Given the description of an element on the screen output the (x, y) to click on. 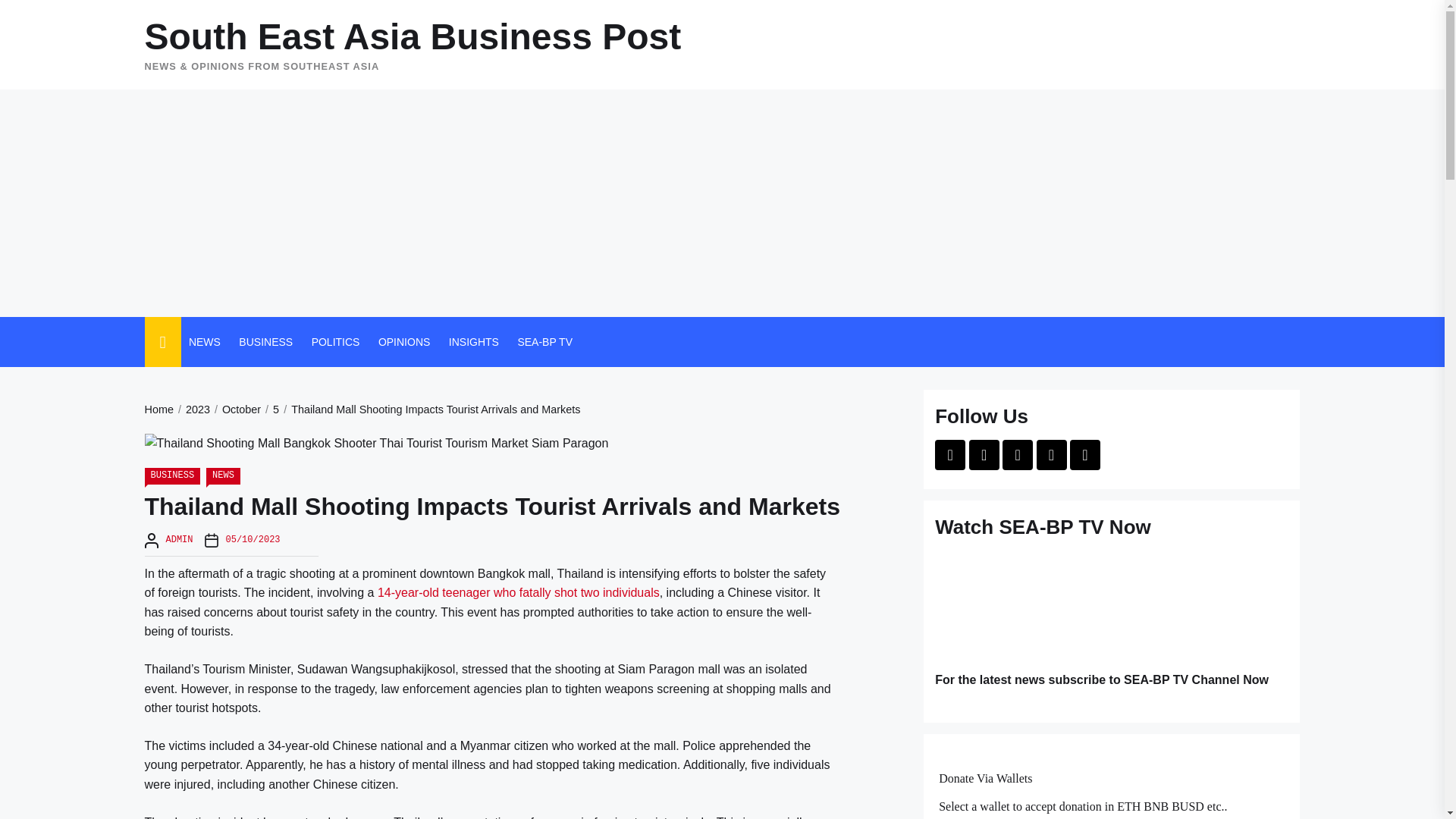
South East Asia Business Post (412, 36)
SEA-BP TV (544, 341)
NEWS (205, 341)
Home (158, 409)
2023 (191, 409)
BUSINESS (265, 341)
INSIGHTS (473, 341)
Thailand Mall Shooting Impacts Tourist Arrivals and Markets (429, 409)
OPINIONS (403, 341)
October (234, 409)
5 (269, 409)
BUSINESS (172, 475)
POLITICS (335, 341)
NEWS (223, 475)
